Given the description of an element on the screen output the (x, y) to click on. 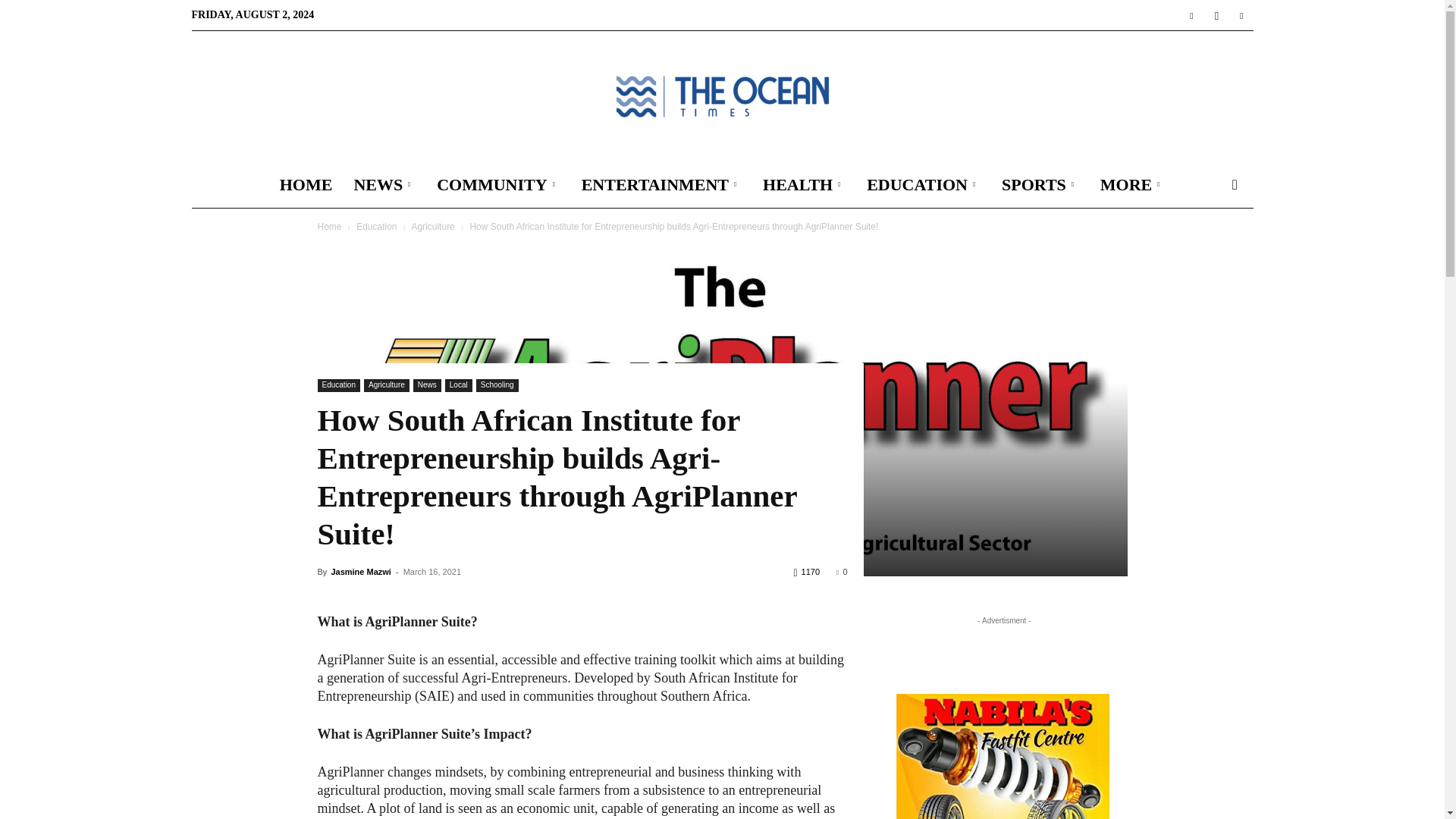
NEWS (384, 185)
HOME (306, 185)
